Given the description of an element on the screen output the (x, y) to click on. 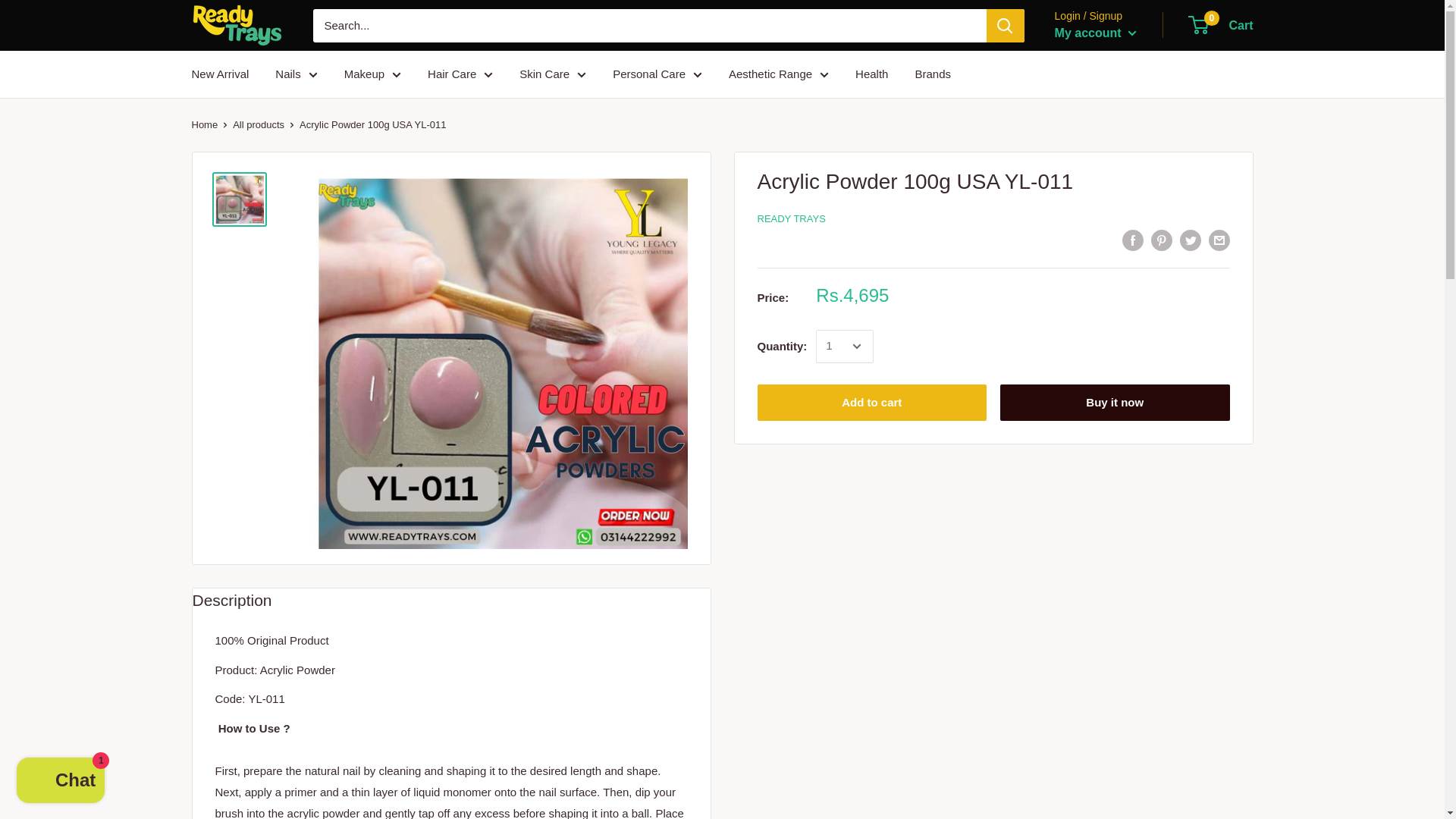
Shopify online store chat (60, 781)
